Given the description of an element on the screen output the (x, y) to click on. 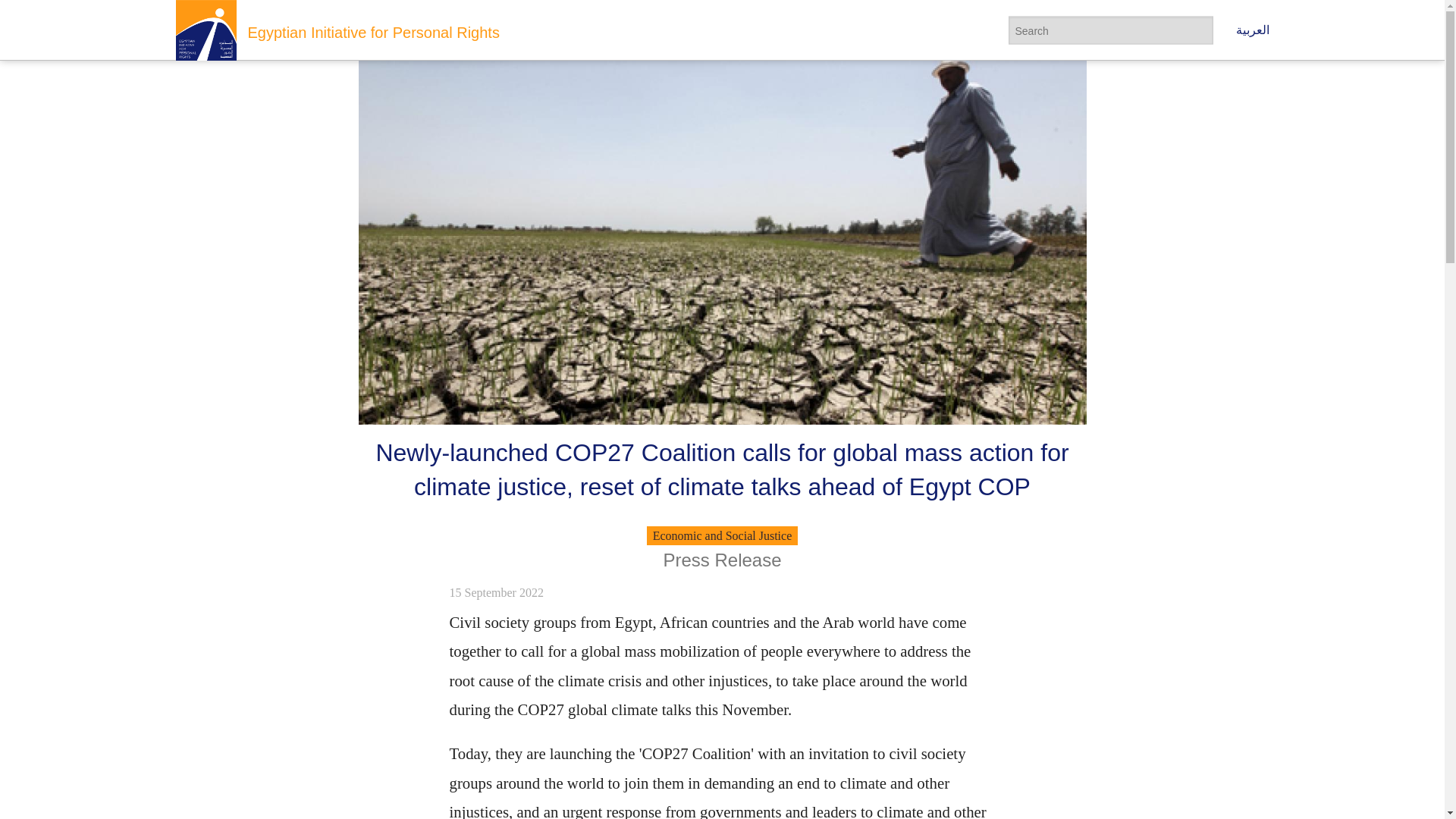
Economic and Social Justice (721, 535)
Home (373, 32)
Egyptian Initiative for Personal Rights Home (206, 30)
Egyptian Initiative for Personal Rights (373, 32)
